Given the description of an element on the screen output the (x, y) to click on. 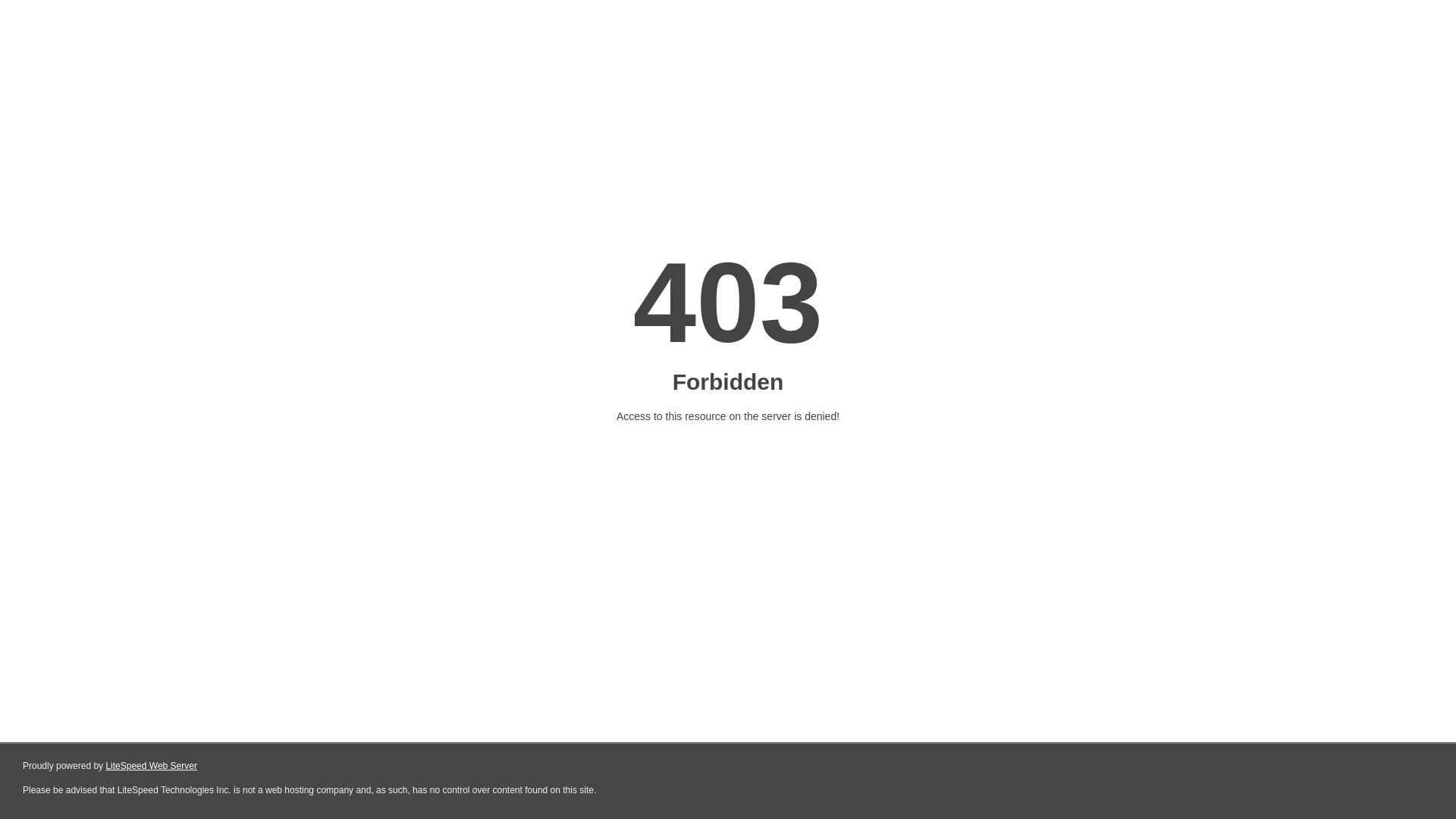
LiteSpeed Web Server Element type: text (151, 765)
